Given the description of an element on the screen output the (x, y) to click on. 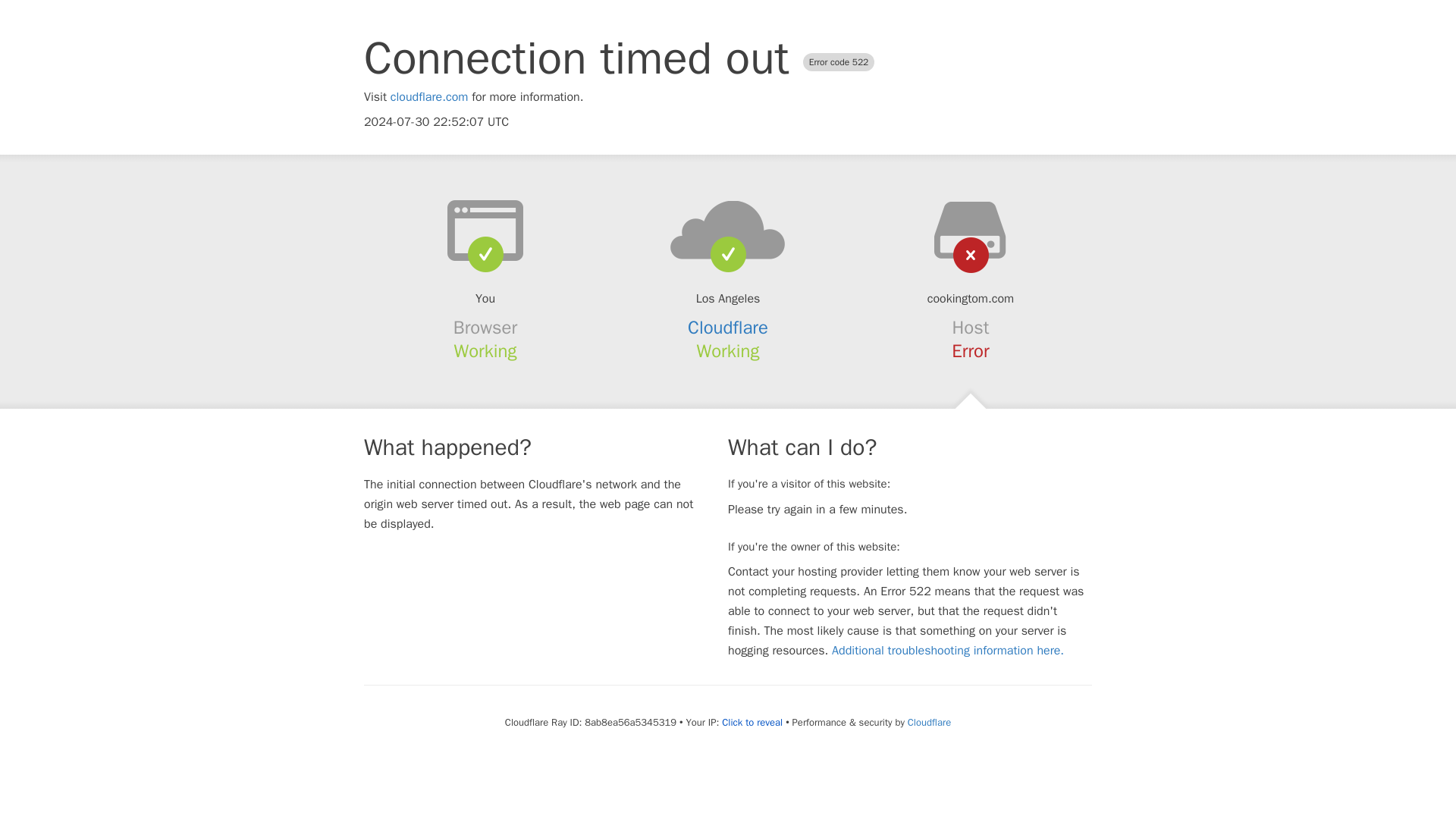
Click to reveal (752, 722)
Cloudflare (928, 721)
Additional troubleshooting information here. (947, 650)
cloudflare.com (429, 96)
Cloudflare (727, 327)
